Given the description of an element on the screen output the (x, y) to click on. 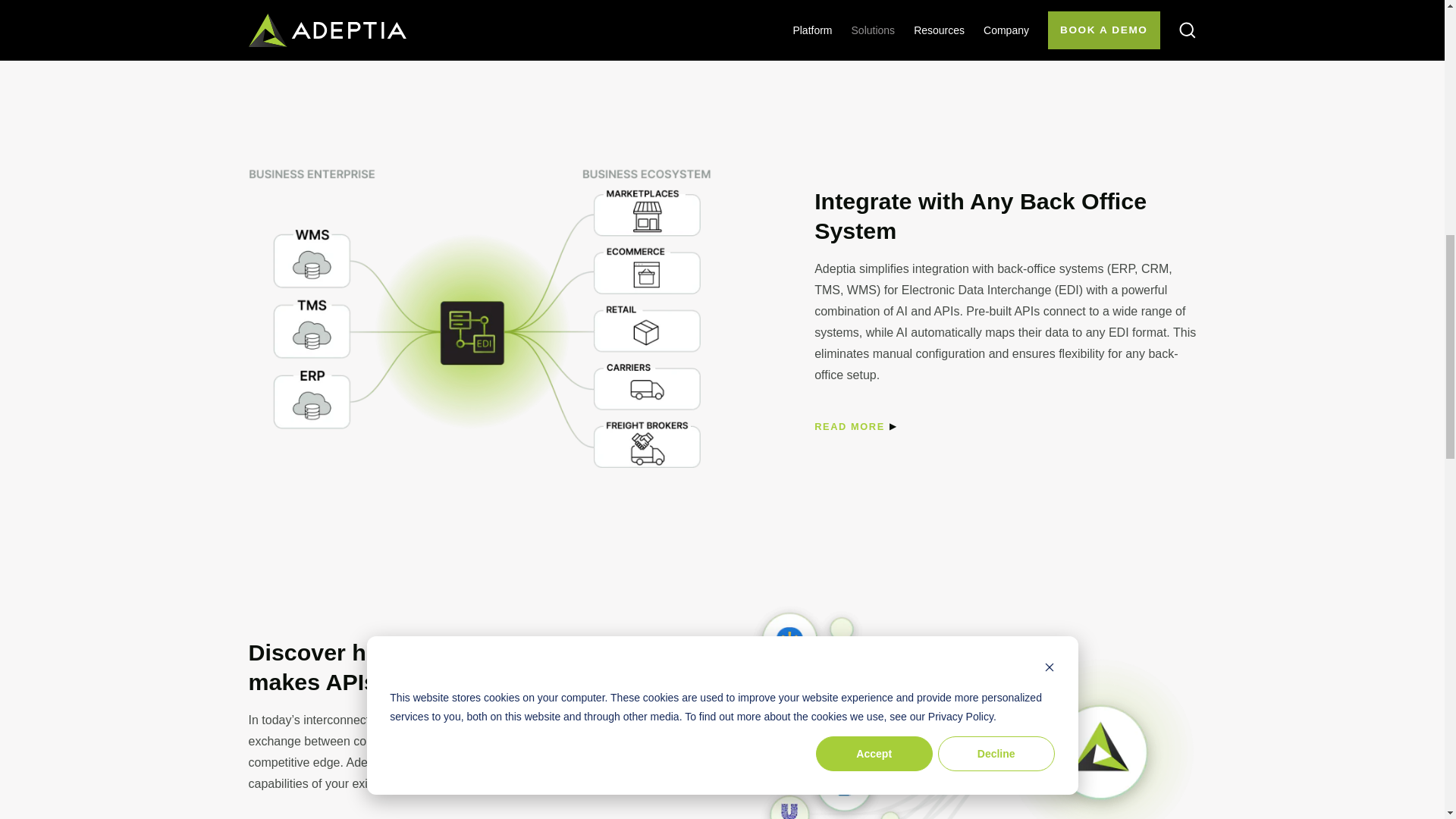
Read More about backoffice integration (849, 427)
Read More about trading partner integration (283, 29)
